Given the description of an element on the screen output the (x, y) to click on. 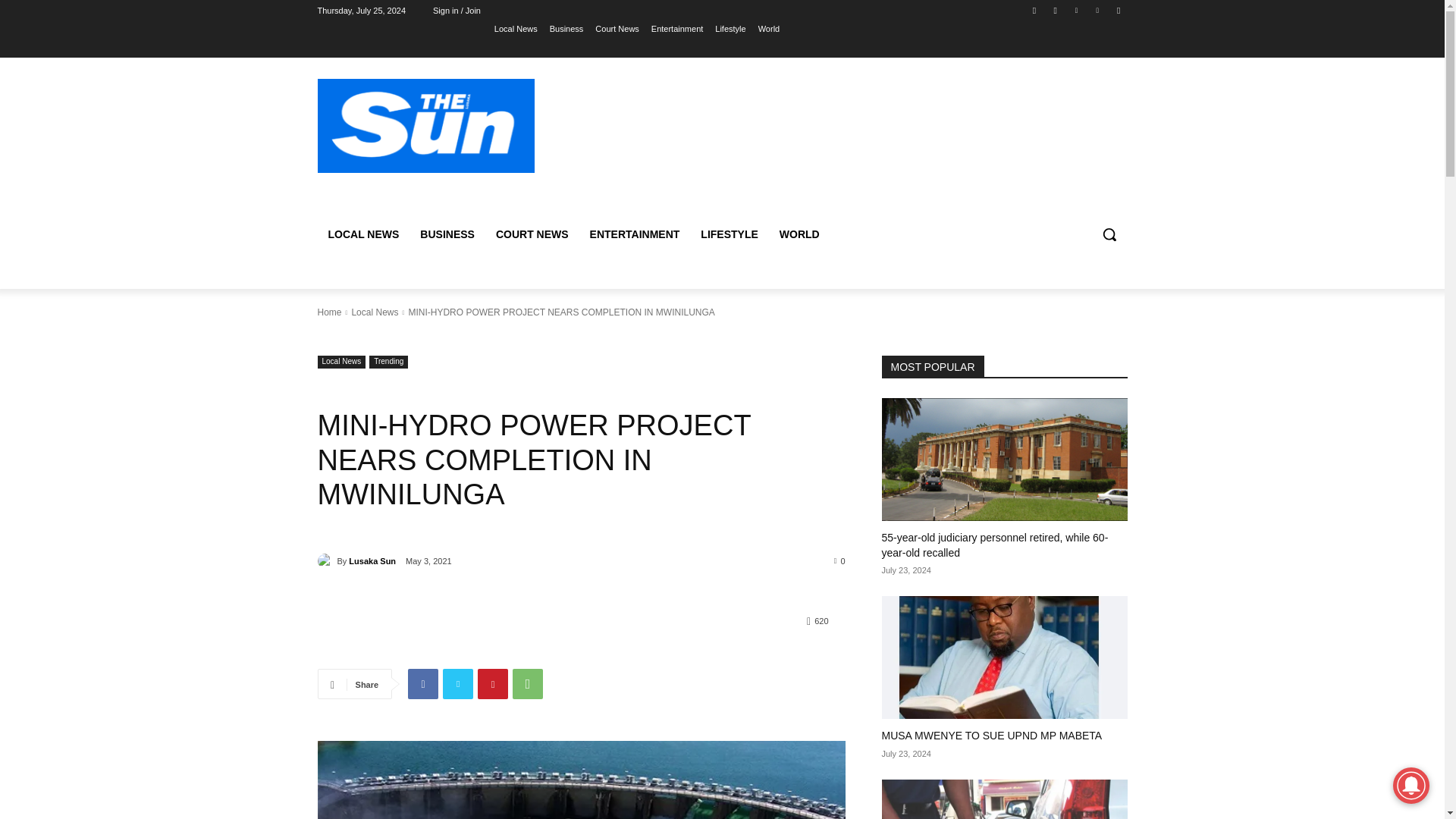
Local News (516, 28)
World (769, 28)
Twitter (1075, 9)
LOCAL NEWS (363, 234)
Local News (341, 361)
Facebook (422, 684)
Advertisement (846, 141)
Vimeo (1097, 9)
Trending (388, 361)
WhatsApp (527, 684)
COURT NEWS (531, 234)
Pinterest (492, 684)
Business (566, 28)
Home (328, 312)
Facebook (1034, 9)
